Given the description of an element on the screen output the (x, y) to click on. 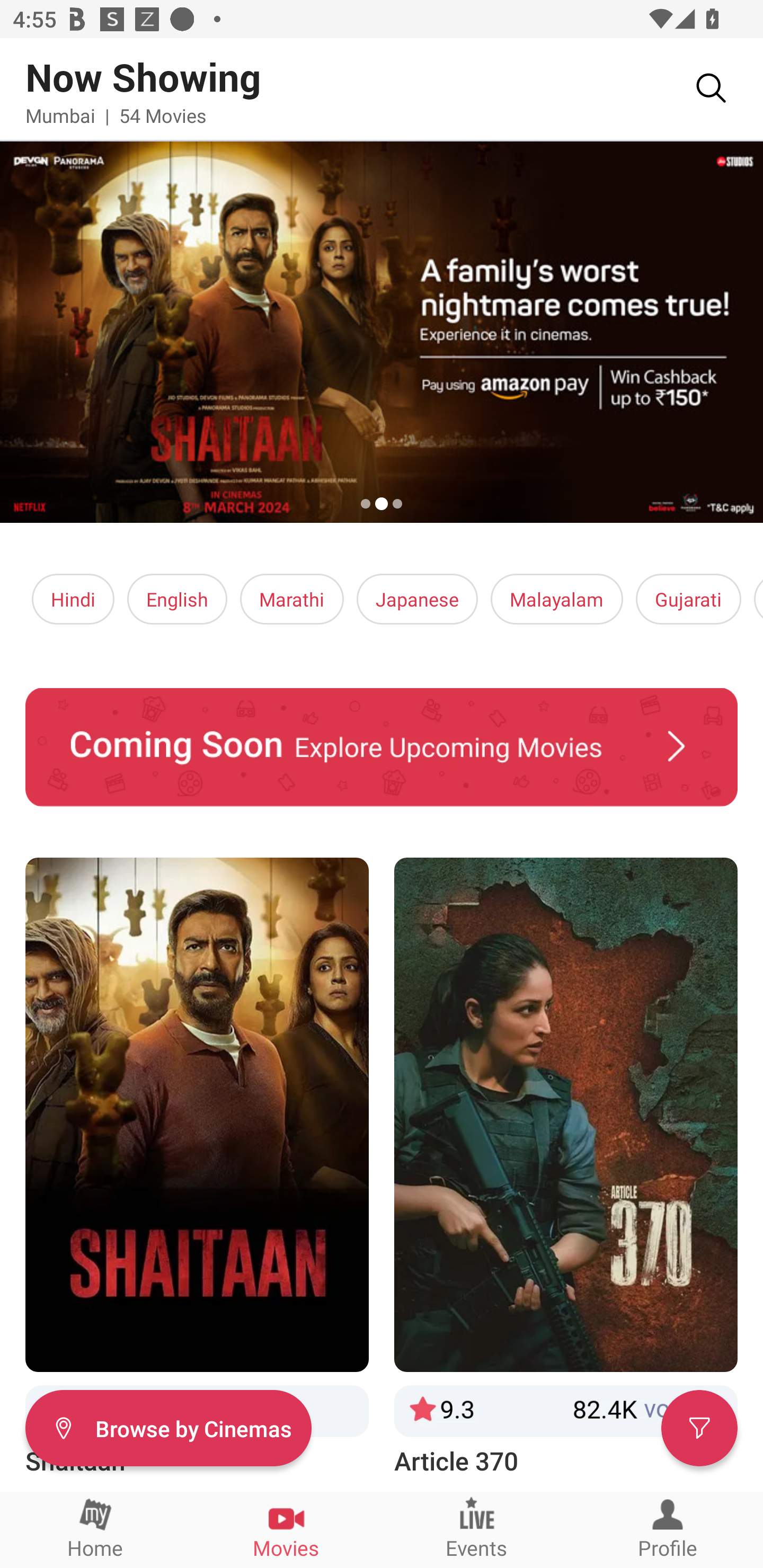
Mumbai  |  54 Movies (115, 114)
Hindi (73, 598)
English (177, 598)
Marathi (292, 598)
Japanese (416, 598)
Malayalam (556, 598)
Gujarati (688, 598)
Shaitaan (196, 1167)
Article 370 (565, 1167)
Filter Browse by Cinemas (168, 1427)
Filter (699, 1427)
Home (95, 1529)
Movies (285, 1529)
Events (476, 1529)
Profile (667, 1529)
